Given the description of an element on the screen output the (x, y) to click on. 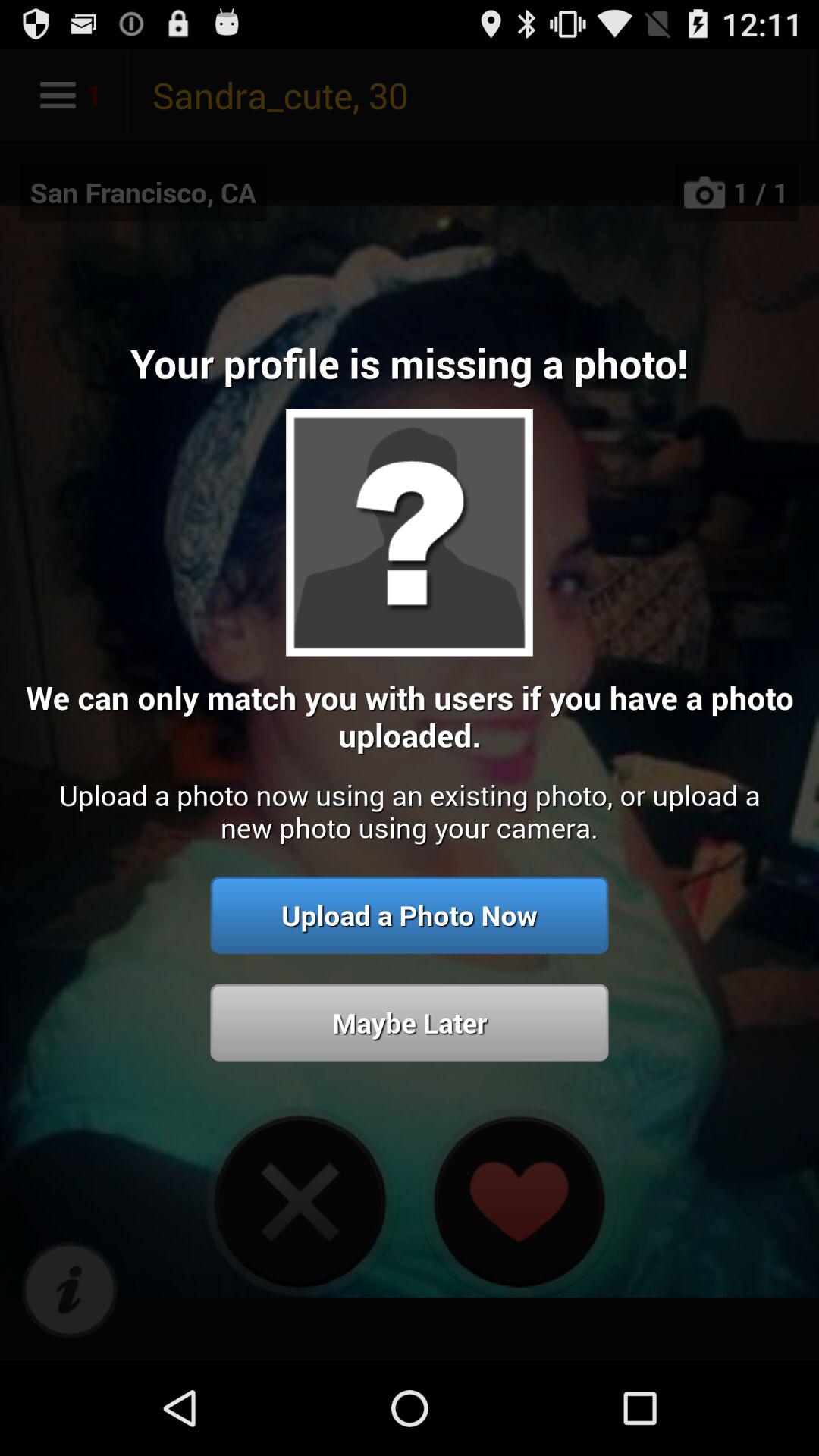
go to mark (69, 1290)
